Given the description of an element on the screen output the (x, y) to click on. 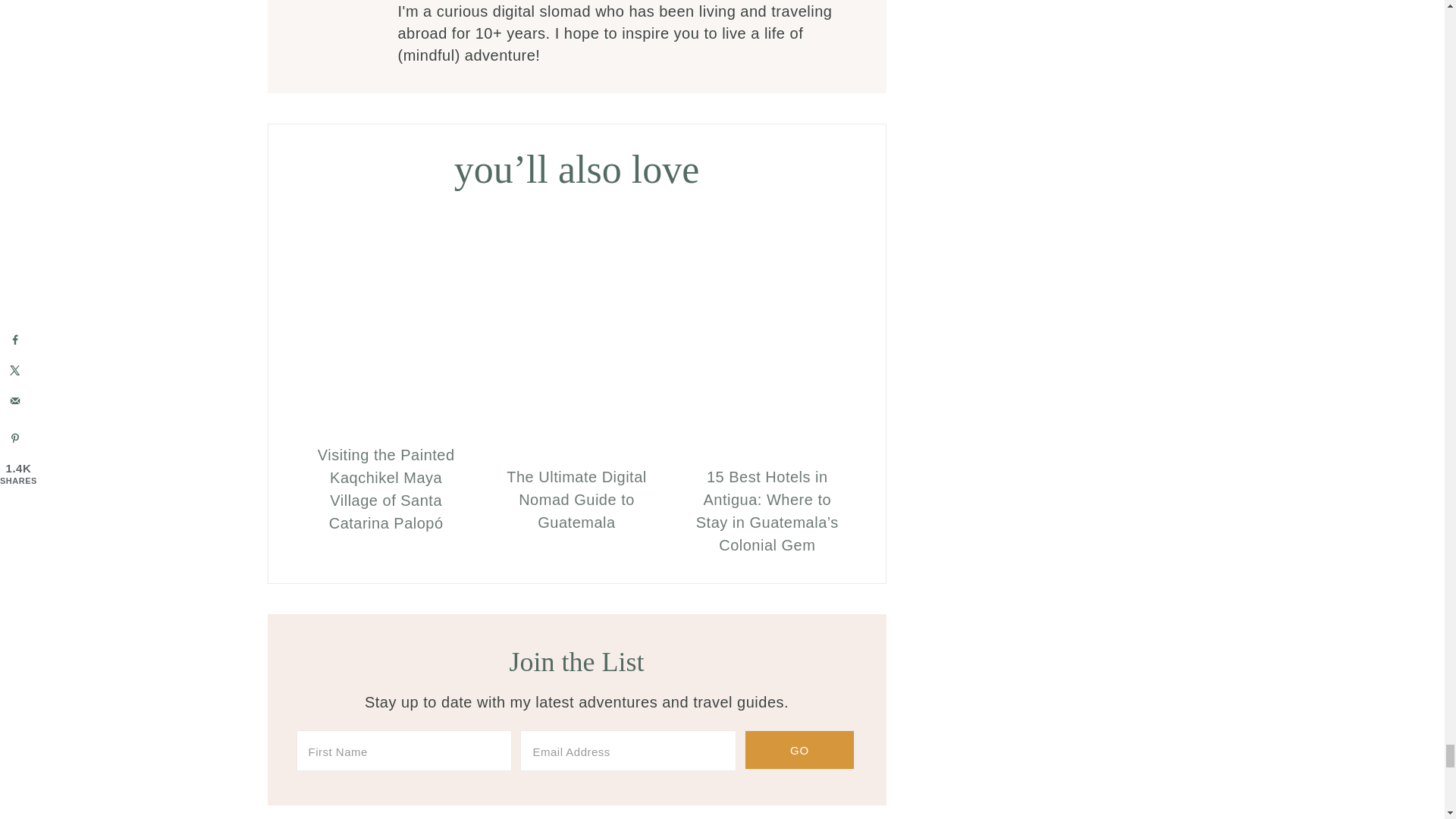
Go (798, 749)
